Given the description of an element on the screen output the (x, y) to click on. 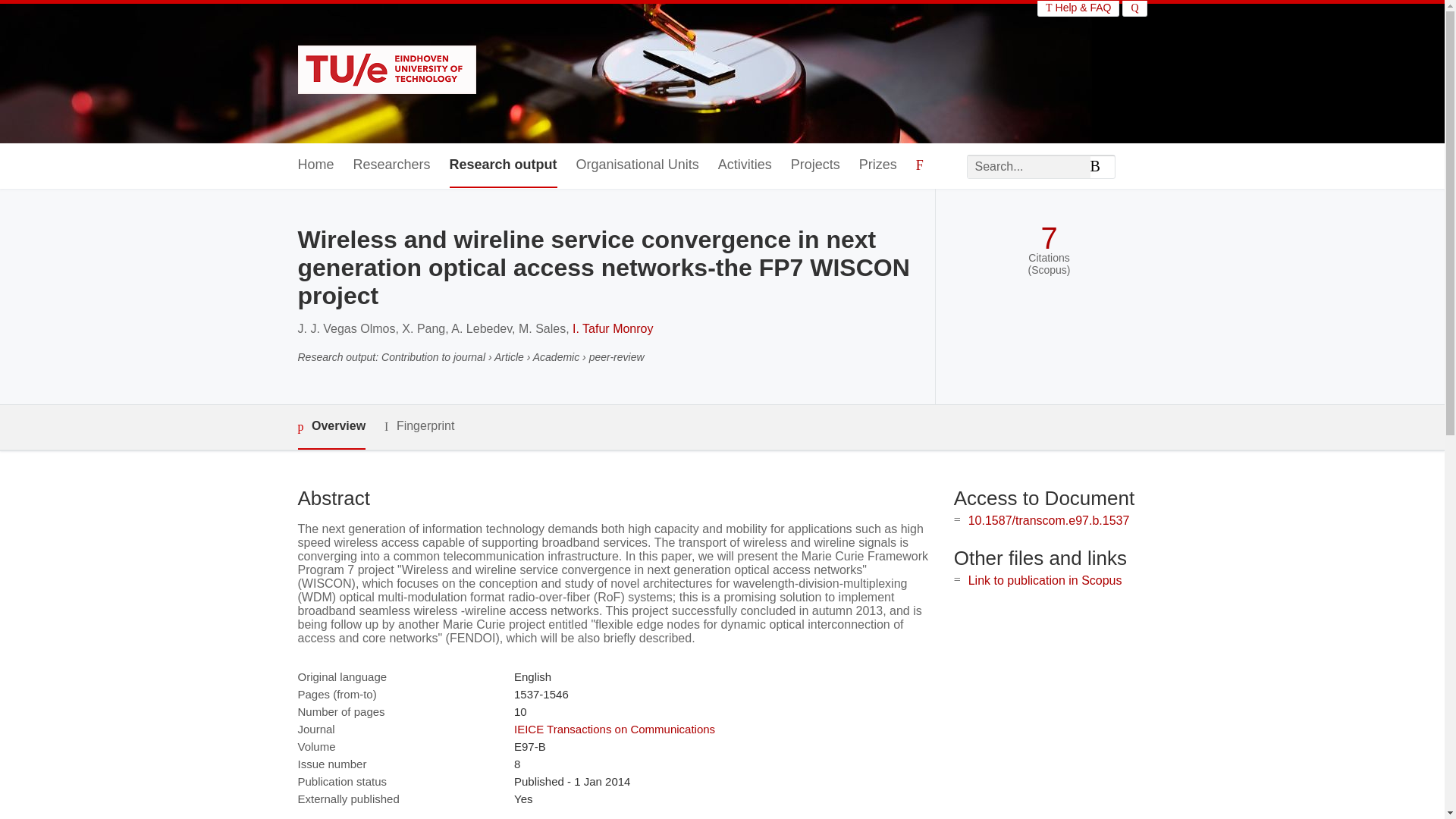
Eindhoven University of Technology research portal Home (386, 71)
Research output (503, 165)
Organisational Units (637, 165)
Link to publication in Scopus (1045, 580)
Fingerprint (419, 425)
IEICE Transactions on Communications (613, 728)
Projects (815, 165)
Activities (744, 165)
Overview (331, 426)
Researchers (391, 165)
I. Tafur Monroy (612, 328)
